Given the description of an element on the screen output the (x, y) to click on. 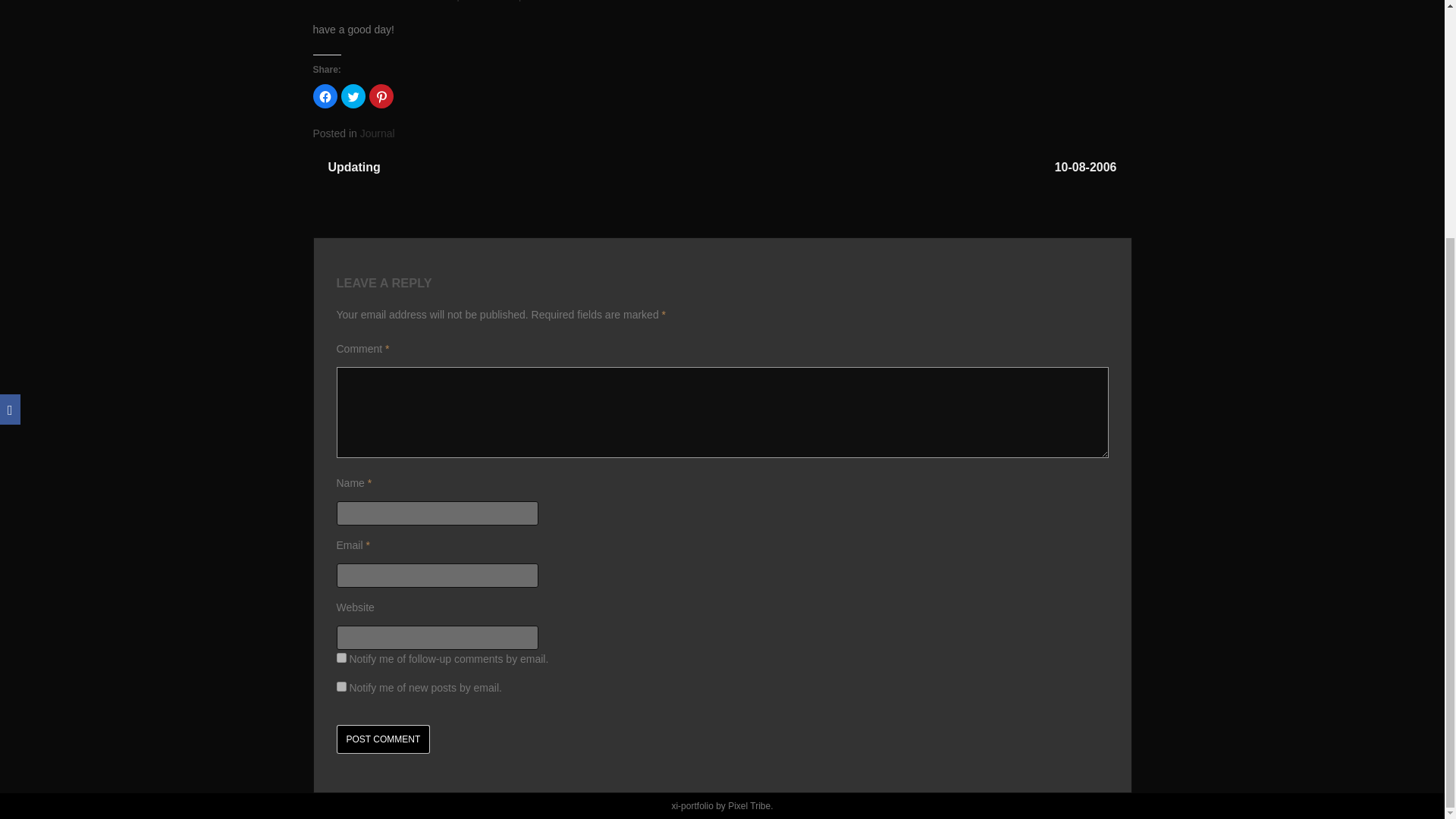
Updating (353, 166)
Click to share on Facebook (324, 96)
Pixel Tribe (749, 805)
Post Comment (383, 738)
Post Comment (383, 738)
subscribe (341, 686)
Click to share on Twitter (352, 96)
10-08-2006 (1085, 166)
subscribe (341, 657)
Click to share on Pinterest (380, 96)
